Given the description of an element on the screen output the (x, y) to click on. 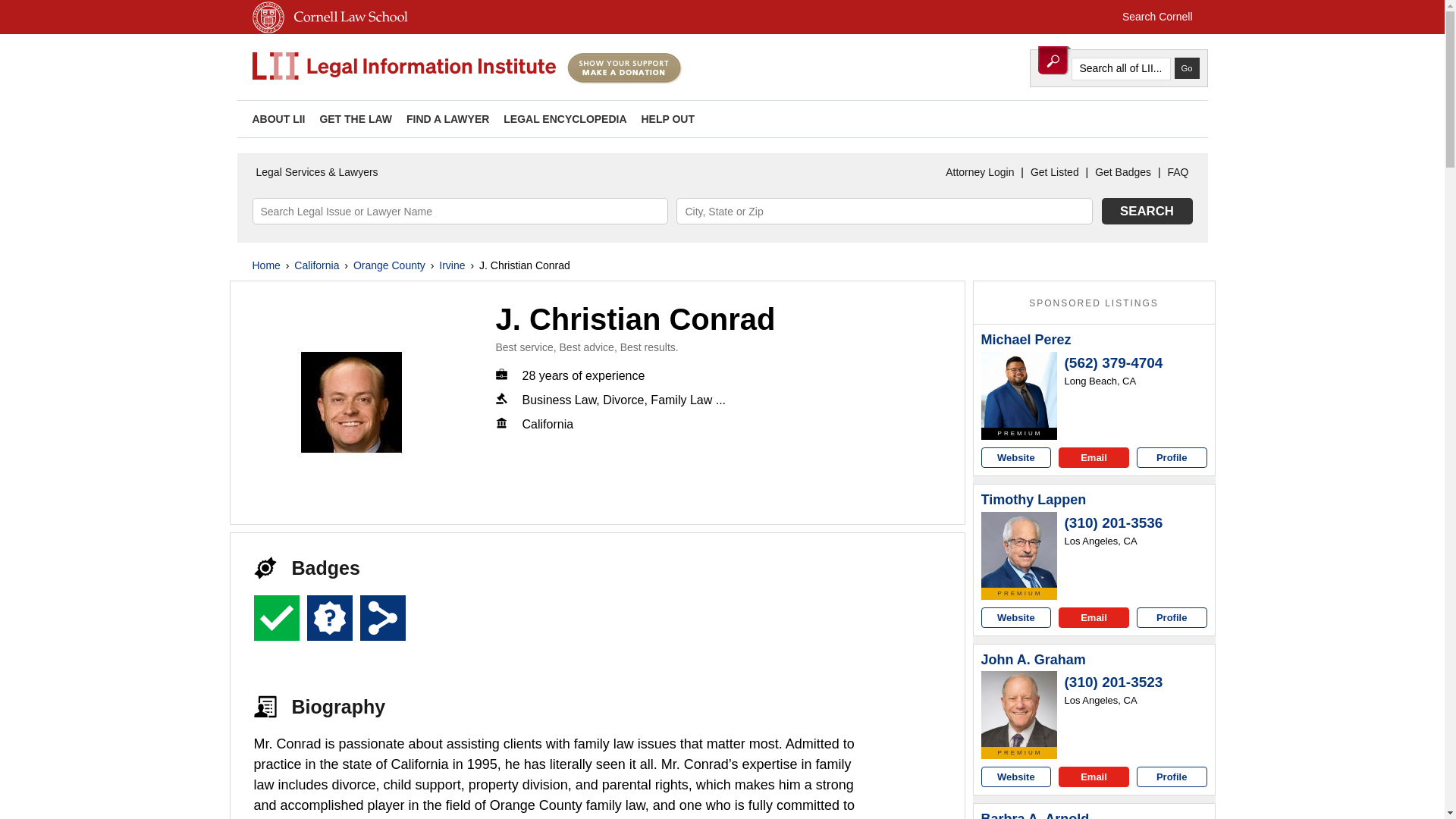
Irvine (451, 264)
Get Badges (1122, 172)
Get Listed (1054, 172)
Home (265, 264)
City, State or Zip (885, 211)
FIND A LAWYER (447, 119)
twitter follow (1125, 118)
John A. Graham (1033, 660)
SEARCH (1146, 211)
Search Cornell (1157, 16)
